Given the description of an element on the screen output the (x, y) to click on. 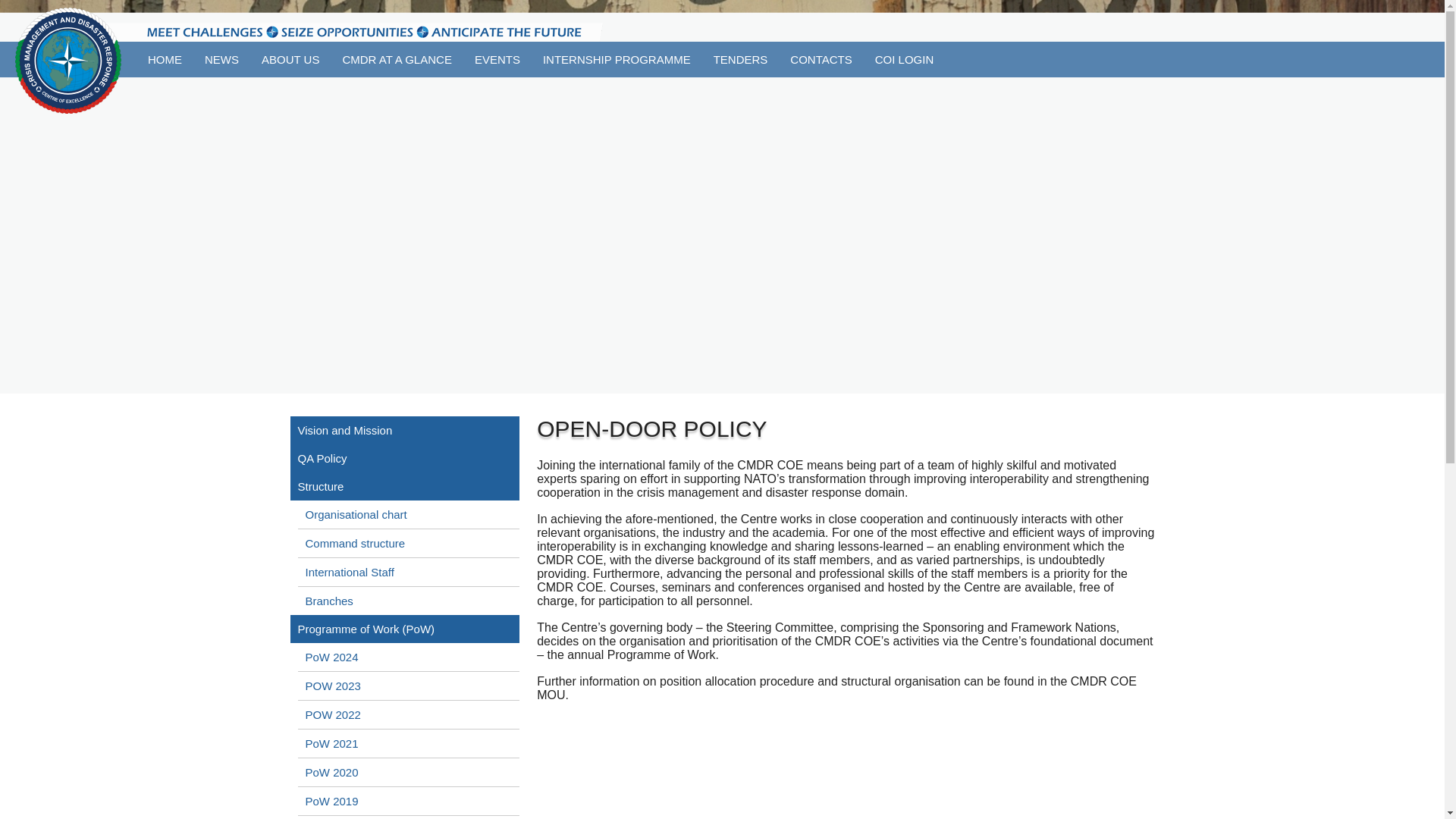
HOME (164, 58)
ABOUT US (290, 58)
NEWS (221, 58)
CONTACTS (820, 58)
INTERNSHIP PROGRAMME (616, 58)
EVENTS (497, 58)
CMDR AT A GLANCE (396, 58)
TENDERS (739, 58)
